Given the description of an element on the screen output the (x, y) to click on. 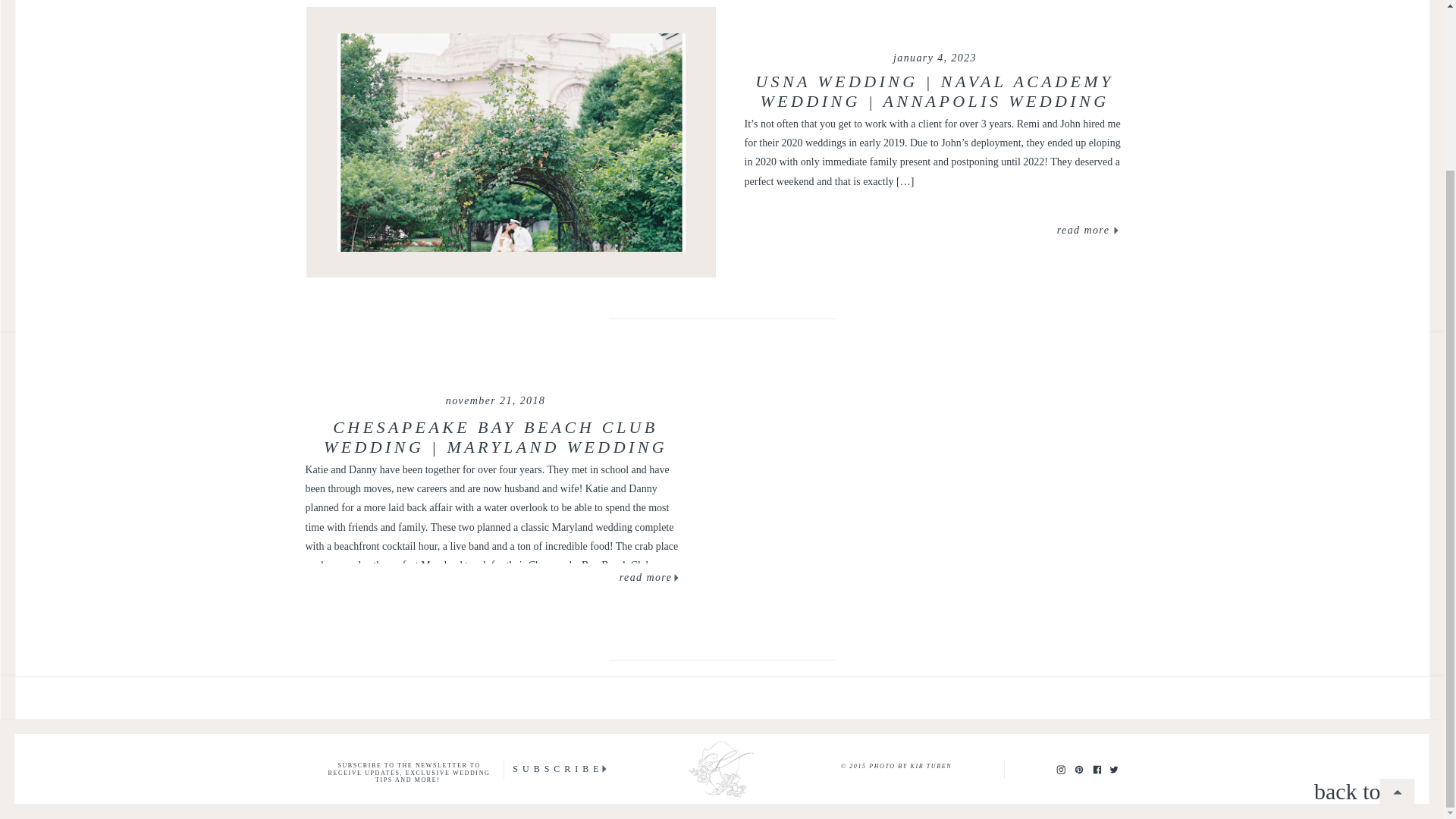
Instagram-color Created with Sketch. (1059, 768)
read more (1083, 231)
Instagram-color Created with Sketch. (1059, 768)
Facebook Copy-color Created with Sketch. (1096, 768)
SUBSCRIBE (558, 768)
read more (646, 578)
Facebook Copy-color Created with Sketch. (1096, 768)
